Given the description of an element on the screen output the (x, y) to click on. 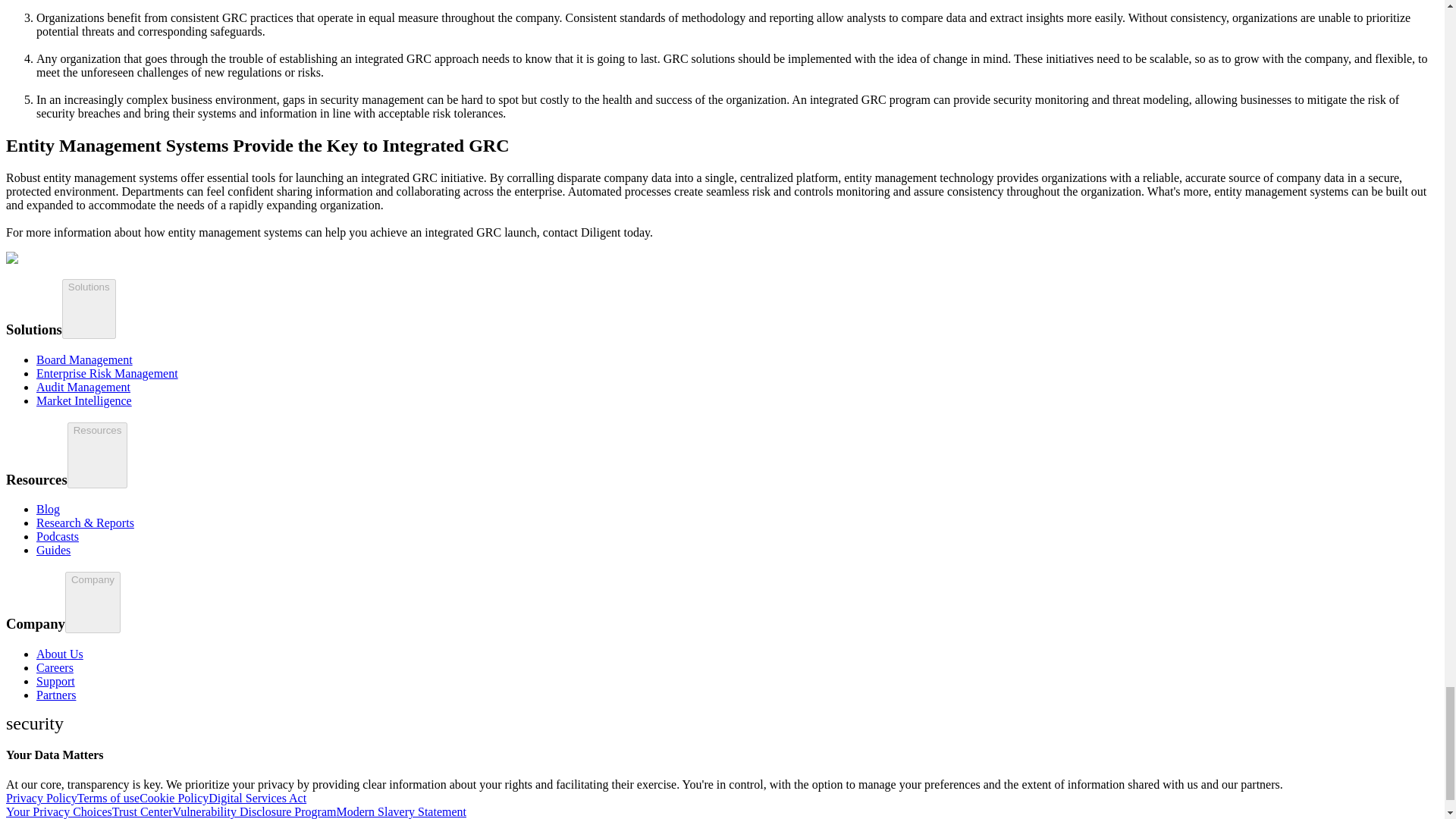
Market Intelligence (84, 400)
About Us (59, 653)
Audit Management (83, 386)
Guides (52, 549)
Company (92, 602)
Board Management (84, 359)
Partners (55, 694)
Podcasts (57, 535)
Blog (47, 508)
Resources (97, 455)
Support (55, 680)
Privacy Policy (41, 797)
Cookie Policy (173, 797)
Careers (55, 667)
Enterprise Risk Management (106, 373)
